Given the description of an element on the screen output the (x, y) to click on. 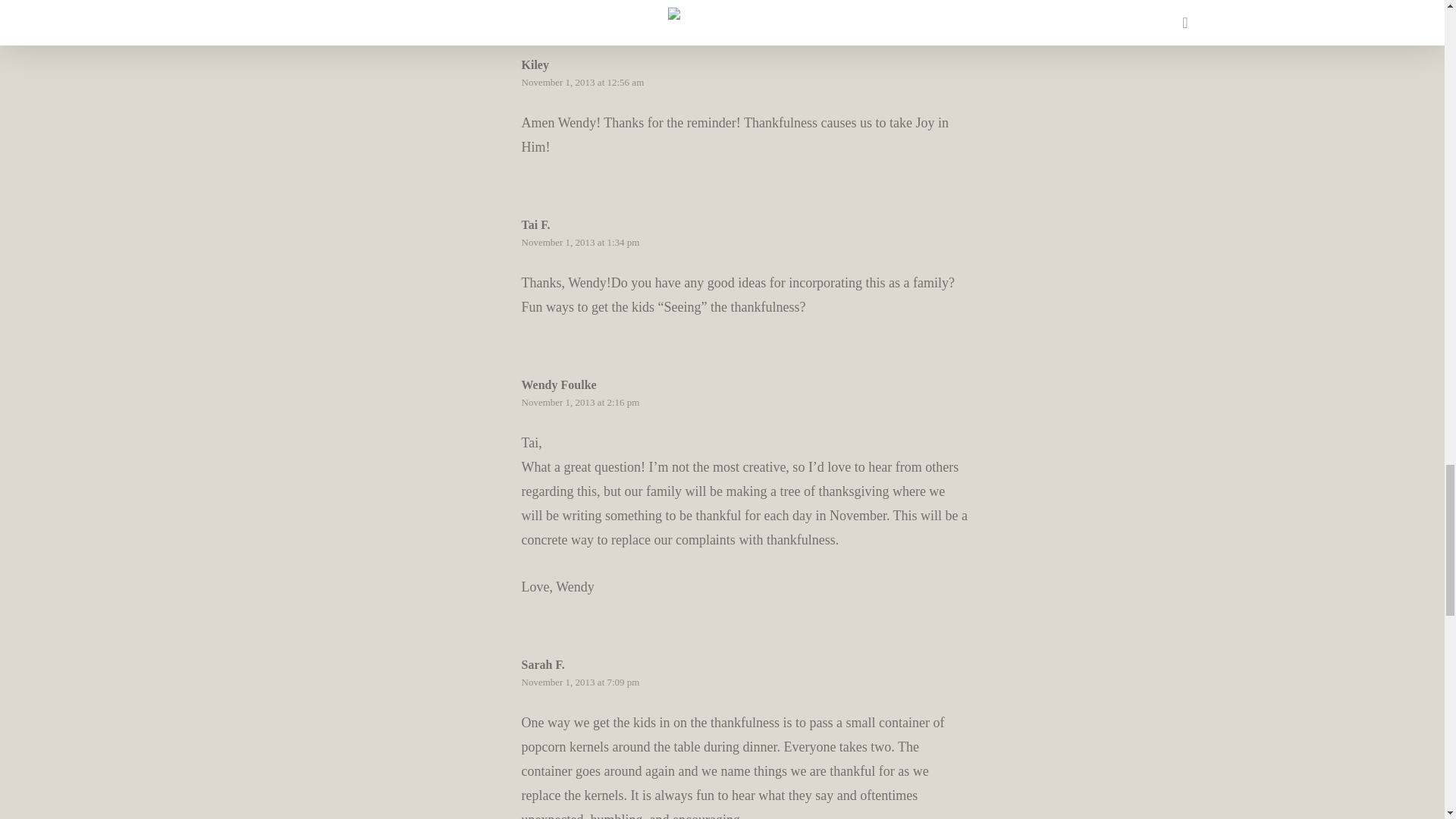
November 1, 2013 at 7:09 pm (580, 681)
November 1, 2013 at 12:56 am (583, 81)
November 1, 2013 at 2:16 pm (580, 401)
November 1, 2013 at 1:34 pm (580, 242)
